Given the description of an element on the screen output the (x, y) to click on. 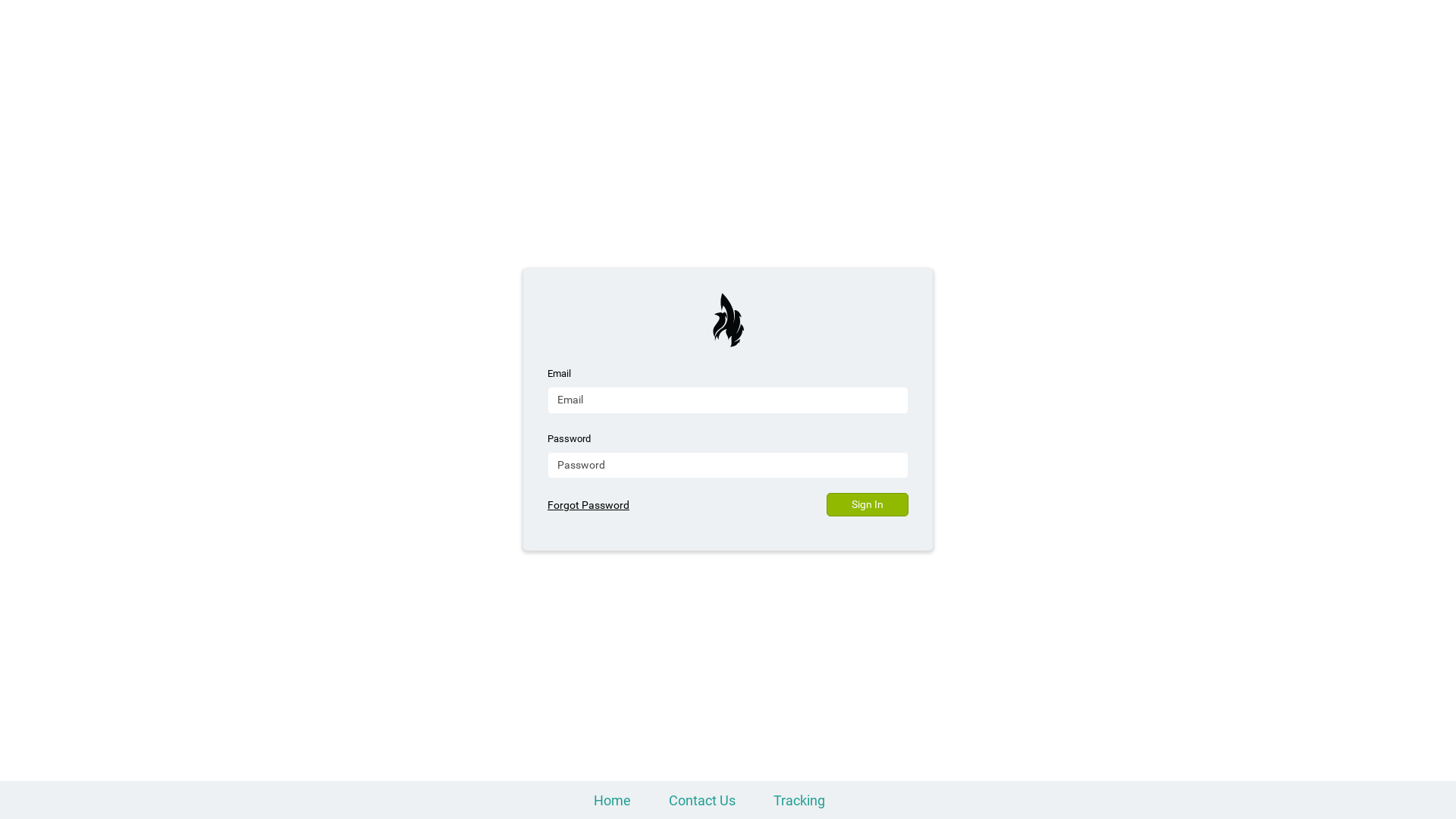
Sign In Element type: text (867, 504)
Tracking Element type: text (799, 800)
Home Element type: text (611, 800)
Forgot Password Element type: text (588, 504)
Contact Us Element type: text (701, 800)
